Given the description of an element on the screen output the (x, y) to click on. 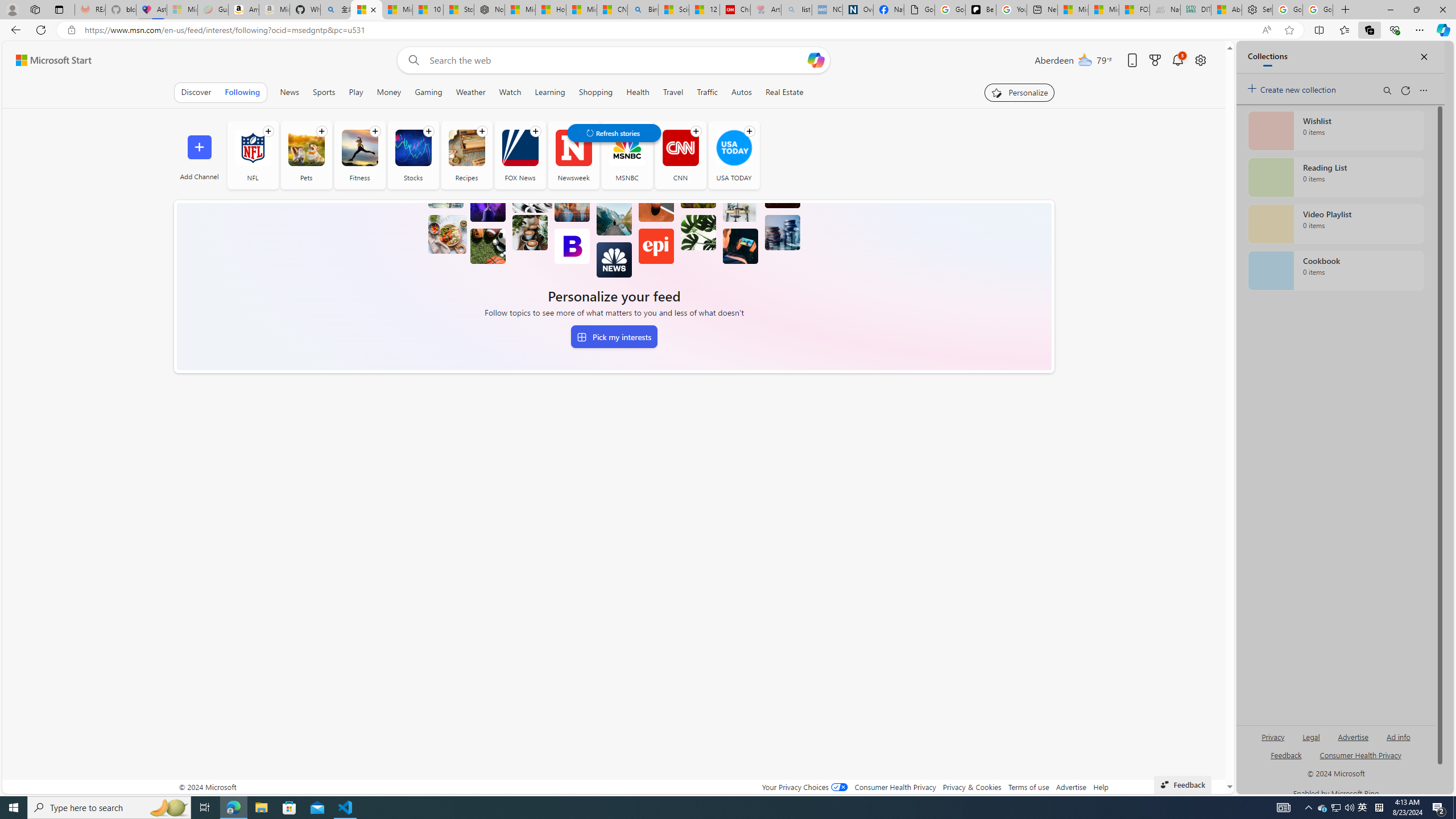
Stocks - MSN (458, 9)
Pets (306, 155)
USA TODAY (733, 155)
Skip to content (49, 59)
Fitness (359, 155)
Stocks (413, 155)
FOX News - MSN (1133, 9)
Travel (672, 92)
